Given the description of an element on the screen output the (x, y) to click on. 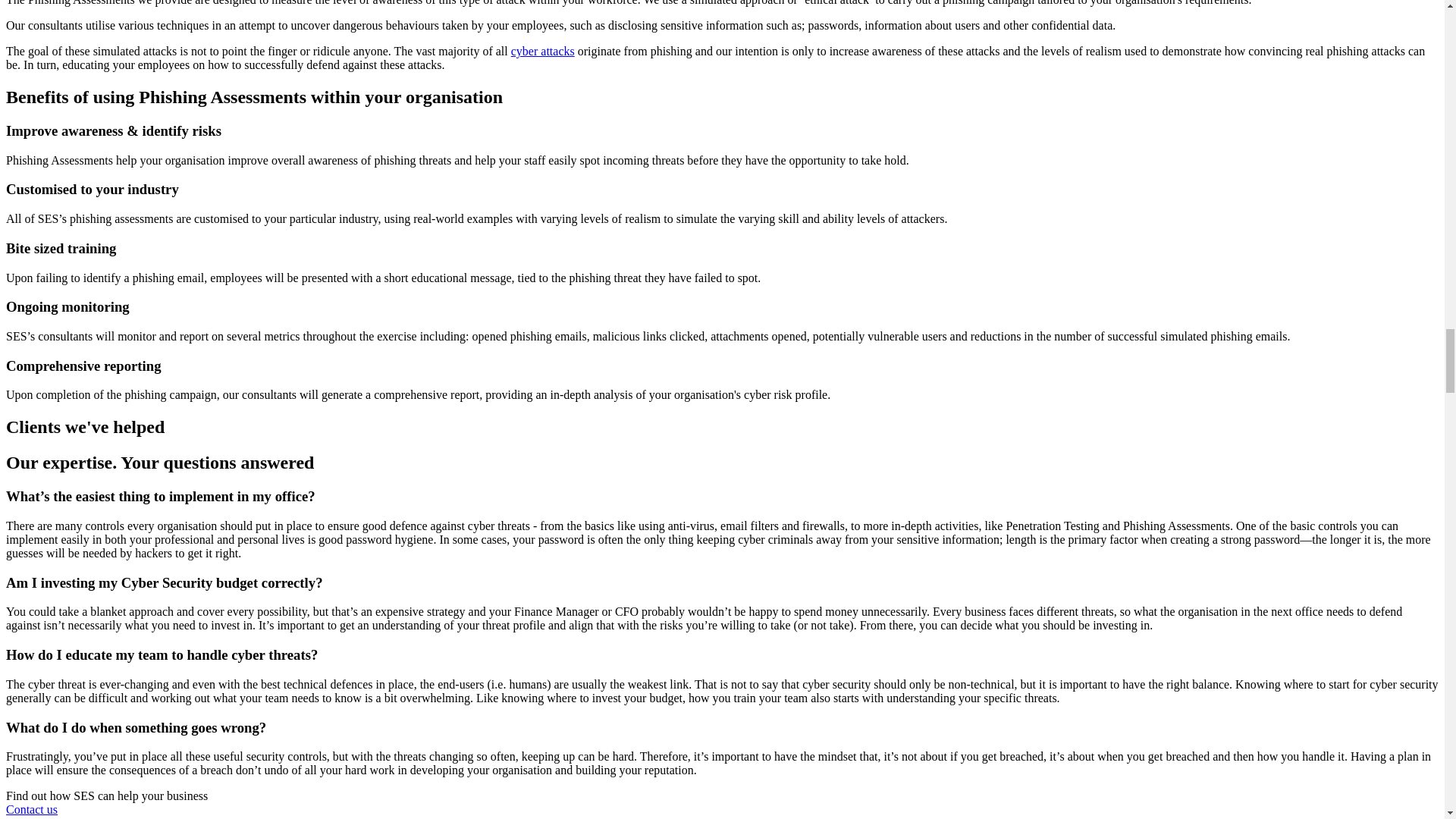
Contact us (31, 809)
cyber attacks (543, 51)
